Given the description of an element on the screen output the (x, y) to click on. 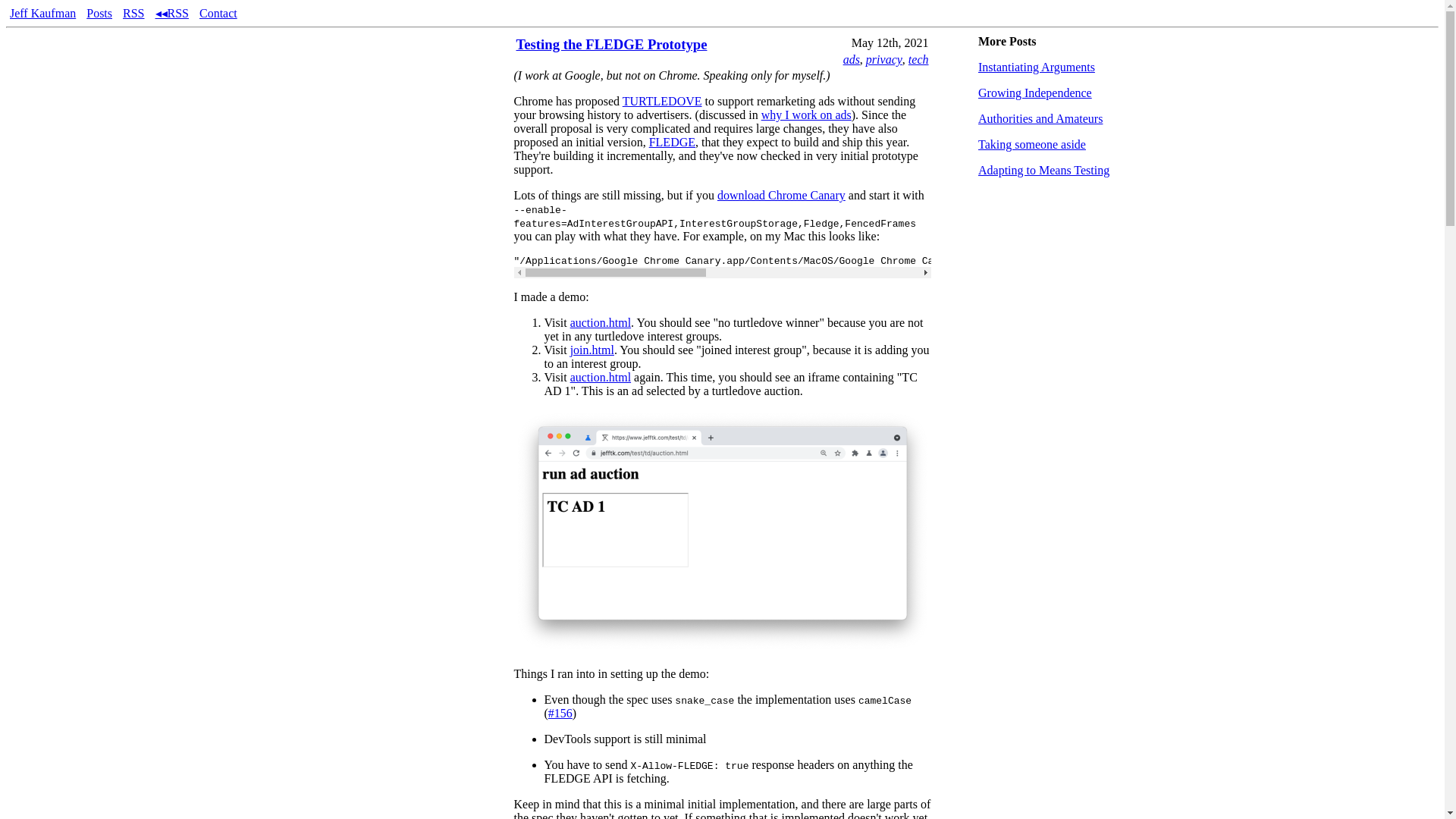
Jeff Kaufman (42, 12)
auction.html (600, 322)
join.html (592, 349)
Posts (98, 12)
ads (851, 59)
FLEDGE (672, 141)
download Chrome Canary (781, 195)
why I work on ads (806, 114)
Testing the FLEDGE Prototype (610, 44)
TURTLEDOVE (662, 101)
Contact (218, 12)
RSS (133, 12)
auction.html (600, 377)
privacy (884, 59)
tech (918, 59)
